Given the description of an element on the screen output the (x, y) to click on. 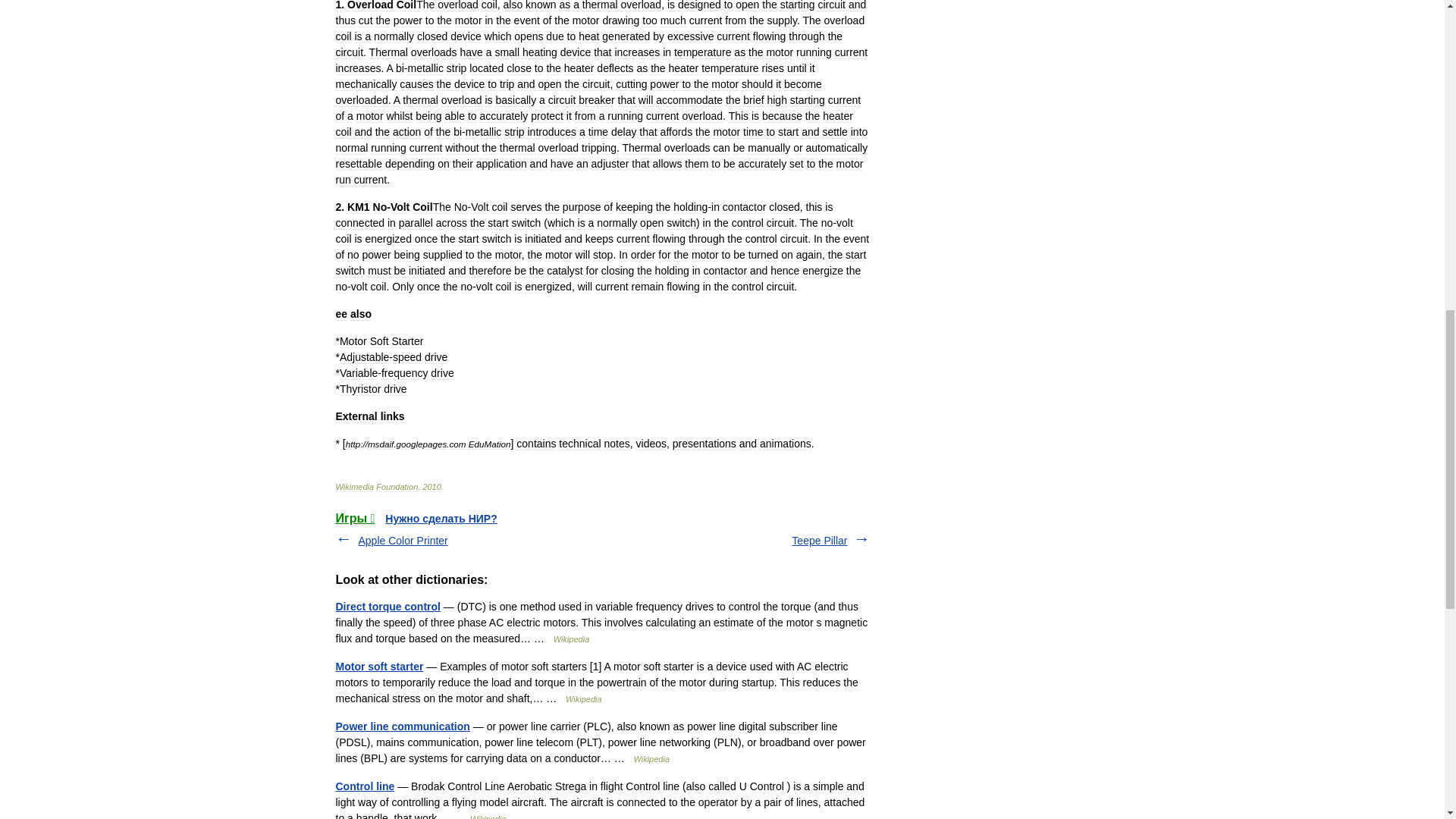
Teepe Pillar (819, 540)
Apple Color Printer (402, 540)
Motor soft starter (378, 666)
Power line communication (401, 726)
Teepe Pillar (819, 540)
Apple Color Printer (402, 540)
Direct torque control (386, 606)
Control line (364, 786)
